Given the description of an element on the screen output the (x, y) to click on. 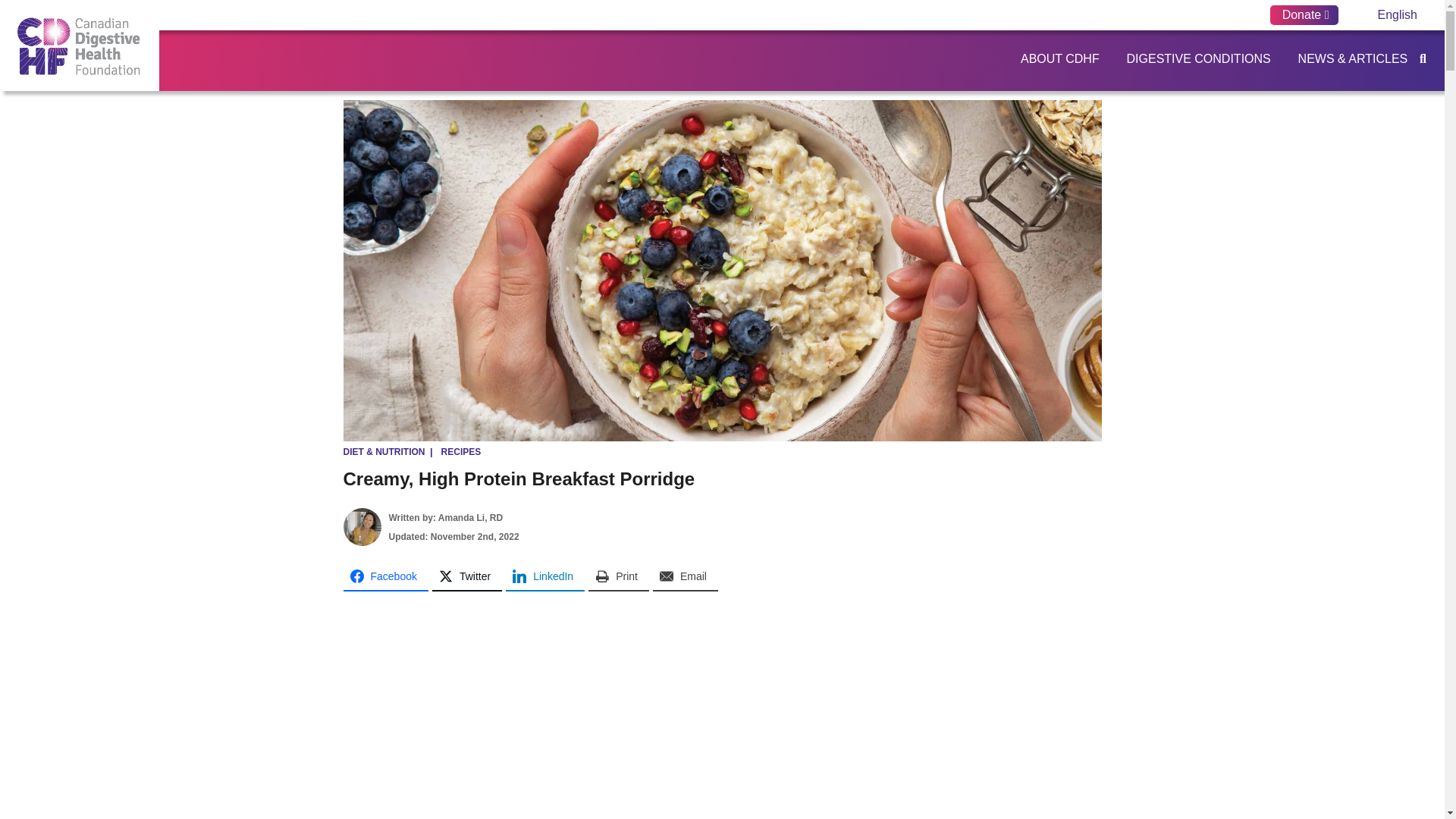
Share on Email (684, 576)
Share on Facebook (385, 576)
Share on Print (618, 576)
DIGESTIVE CONDITIONS (1197, 59)
Share on LinkedIn (545, 576)
ABOUT CDHF (1059, 59)
Share on Twitter (467, 576)
